Given the description of an element on the screen output the (x, y) to click on. 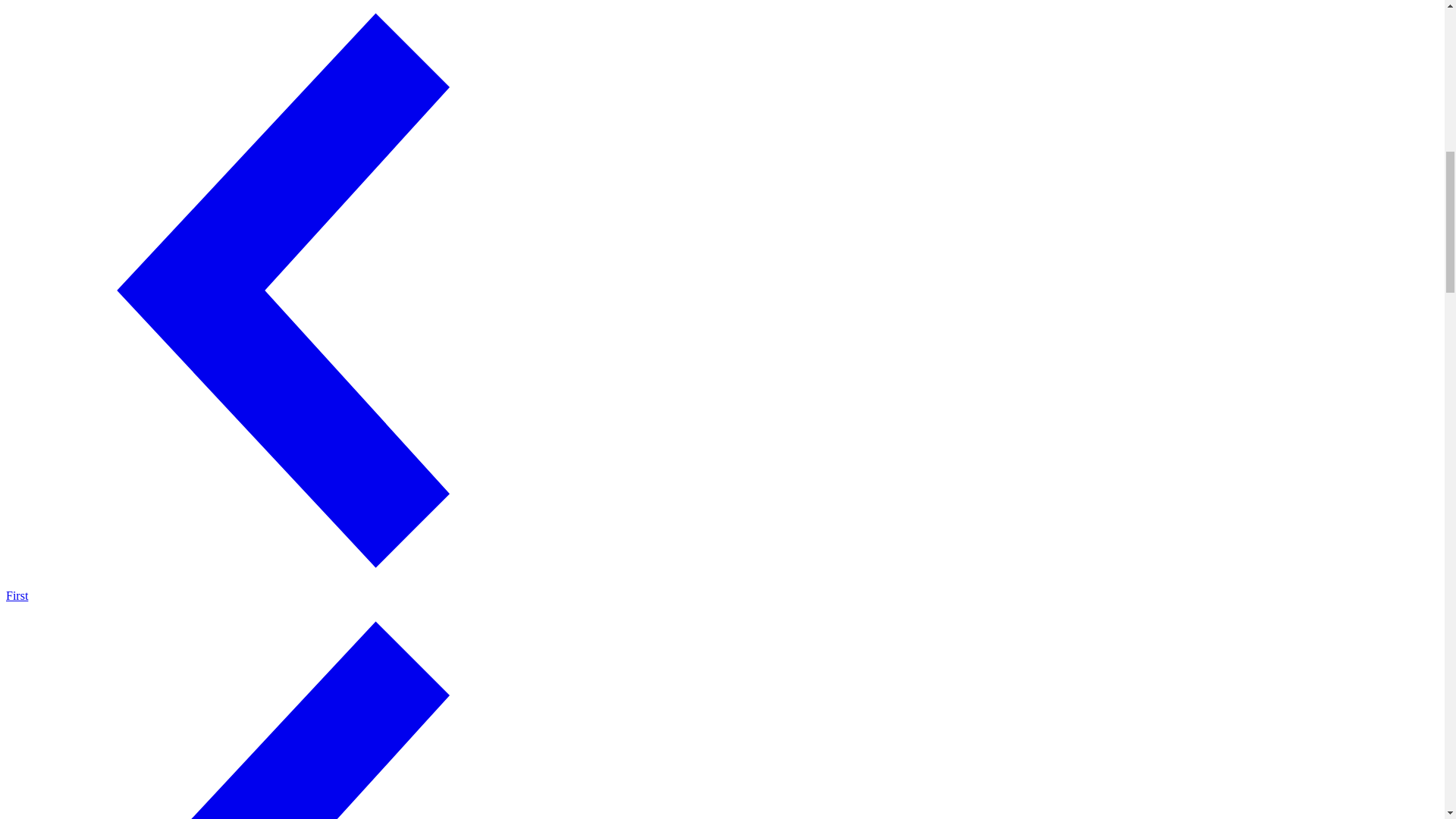
chevronLeft icon Previous (300, 710)
chevronLeft icon (300, 710)
